Given the description of an element on the screen output the (x, y) to click on. 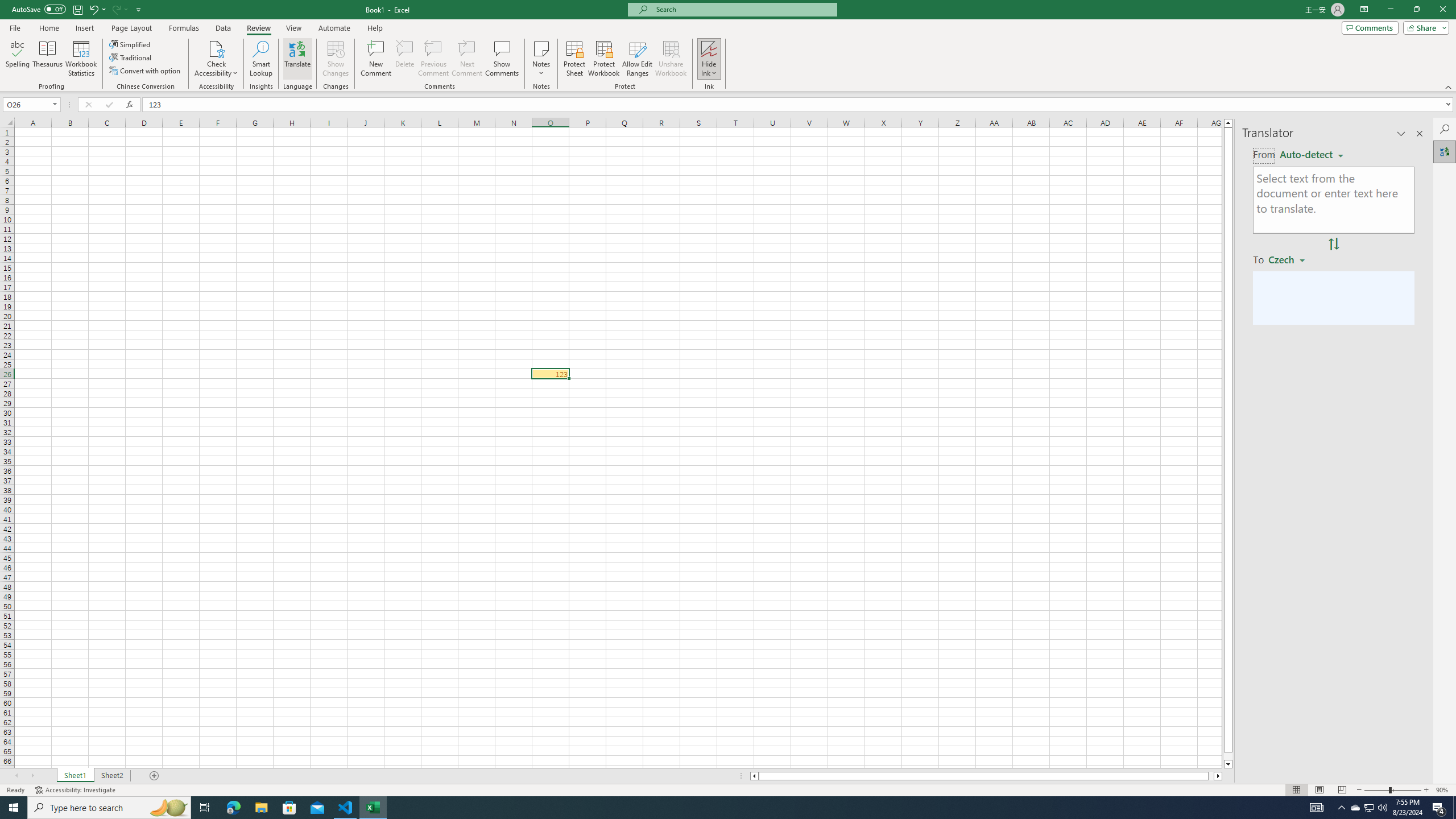
Protect Sheet... (574, 58)
Delete (404, 58)
Thesaurus... (47, 58)
Notes (541, 58)
